Given the description of an element on the screen output the (x, y) to click on. 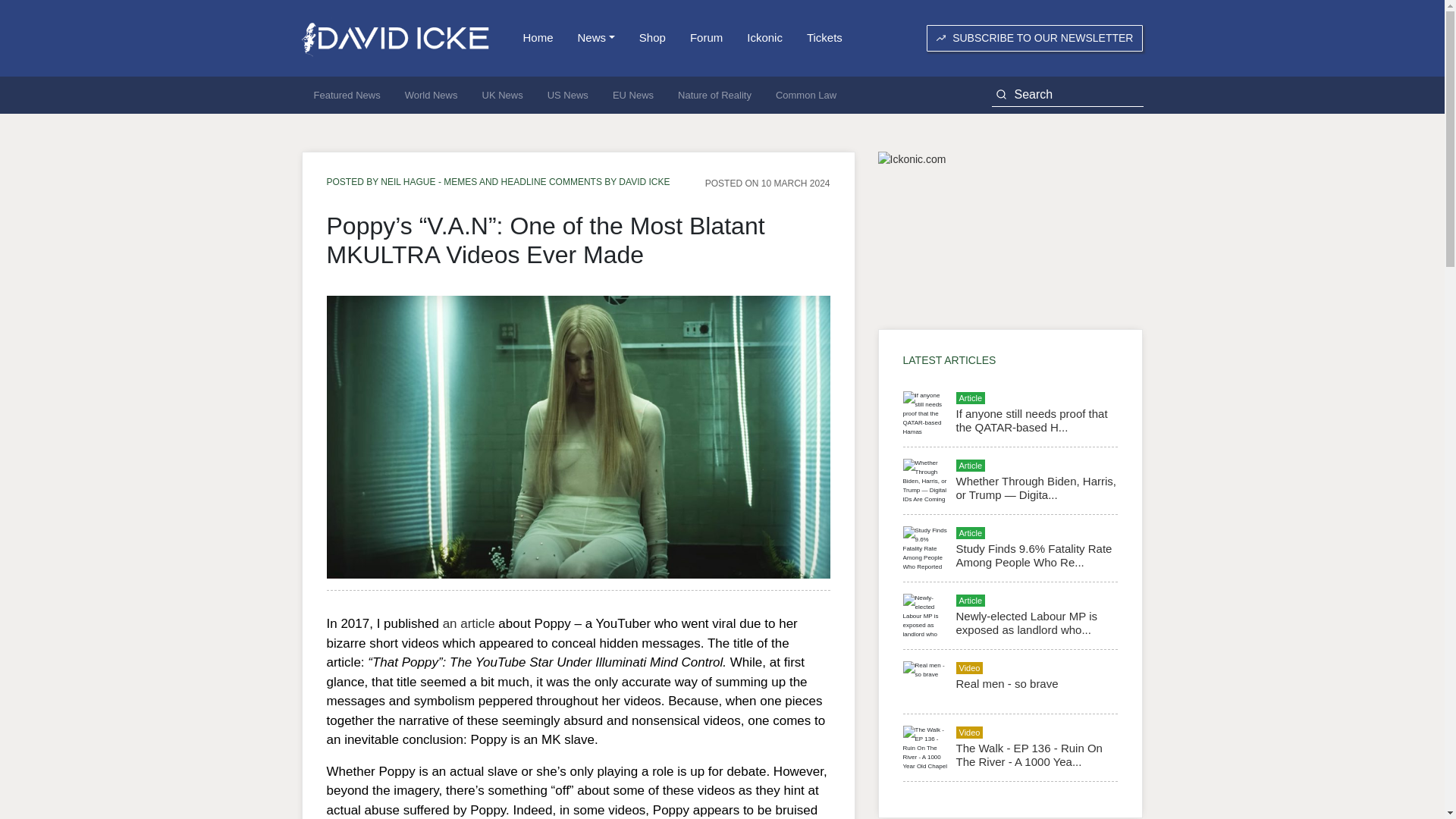
POSTED ON 10 MARCH 2024 (766, 182)
Forum (706, 37)
Shop (652, 37)
SUBSCRIBE TO OUR NEWSLETTER (1034, 38)
World News (431, 94)
Real men - so brave (1006, 683)
Nature of Reality (713, 94)
EU News (632, 94)
UK News (502, 94)
